Given the description of an element on the screen output the (x, y) to click on. 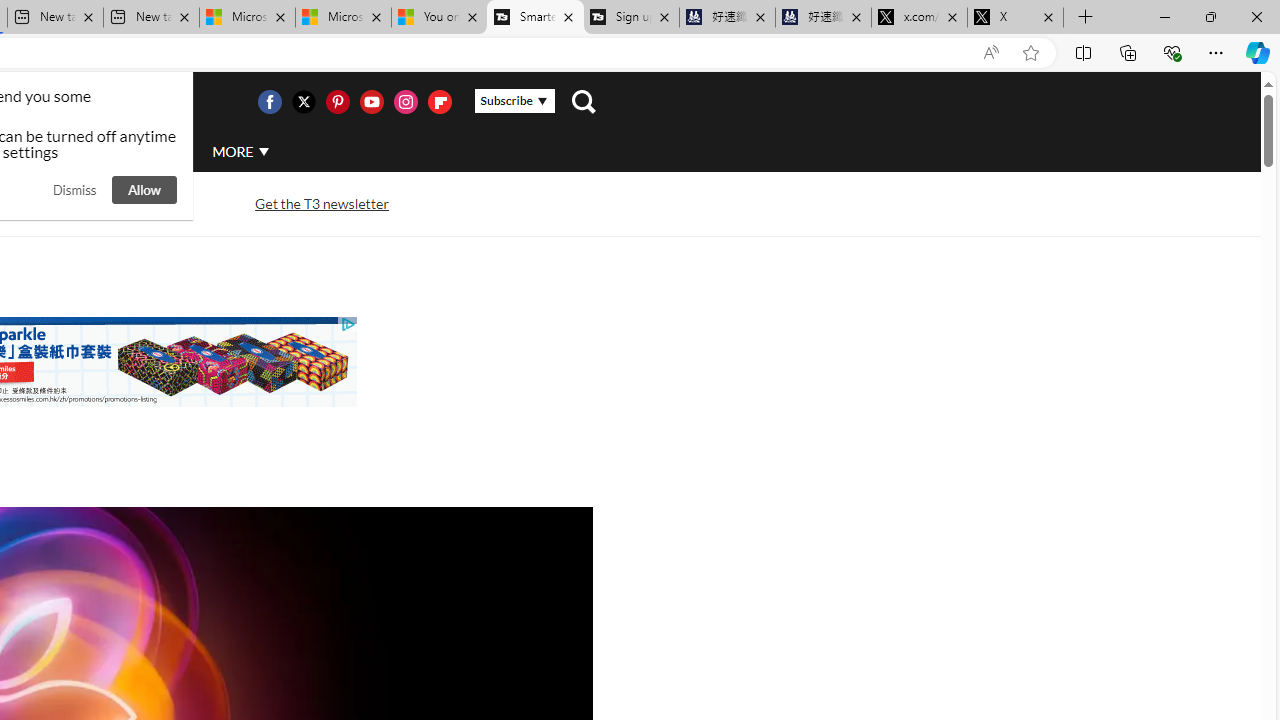
Visit us on Flipboard (439, 101)
Visit us on Facebook (269, 101)
Get the T3 newsletter (322, 202)
Subscribe (514, 101)
Visit us on Youtube (371, 101)
Get the T3 newsletter (322, 204)
Visit us on Pintrest (337, 101)
Visit us on Instagram (405, 101)
